Given the description of an element on the screen output the (x, y) to click on. 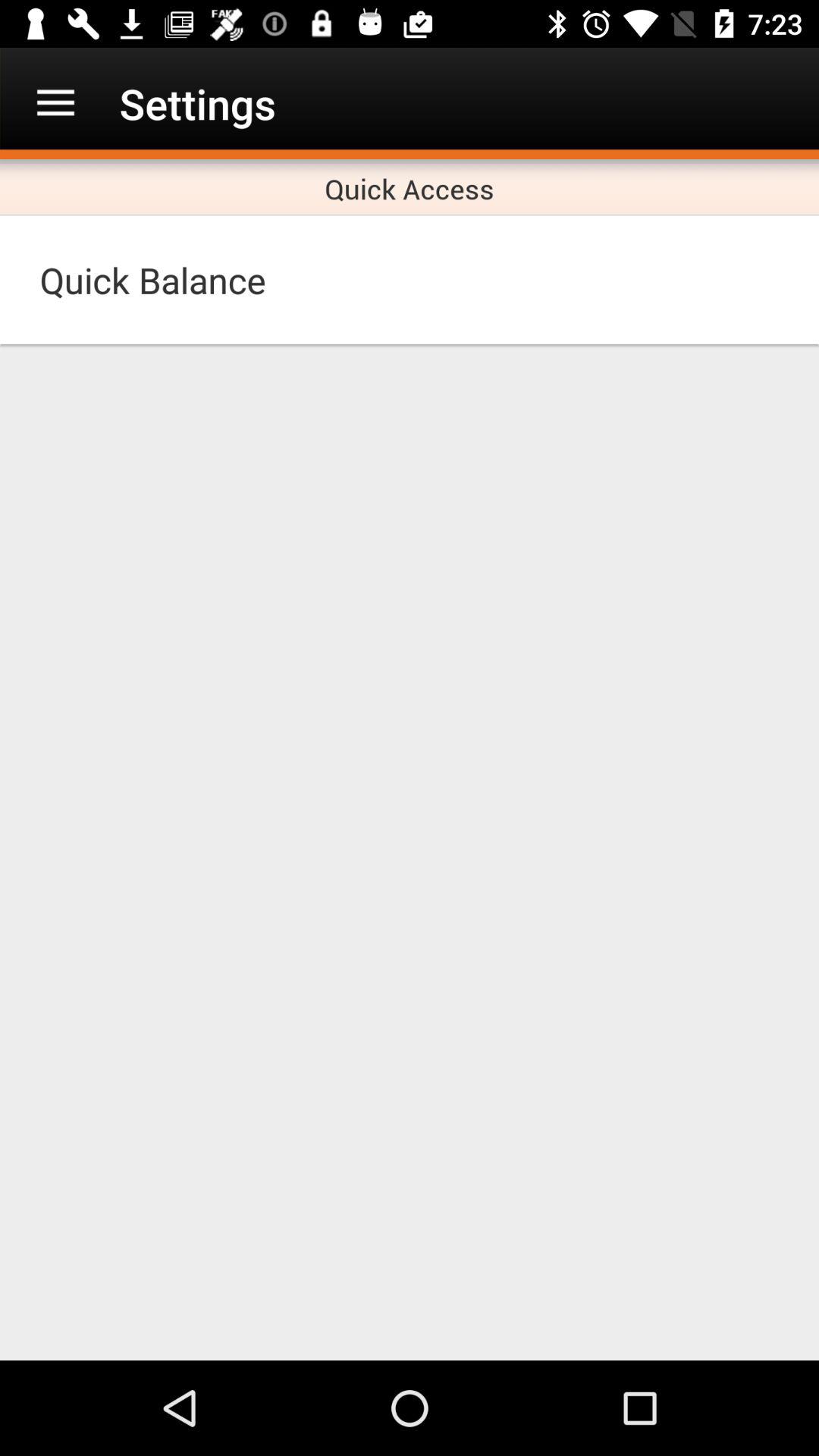
turn on the item next to settings (55, 103)
